Given the description of an element on the screen output the (x, y) to click on. 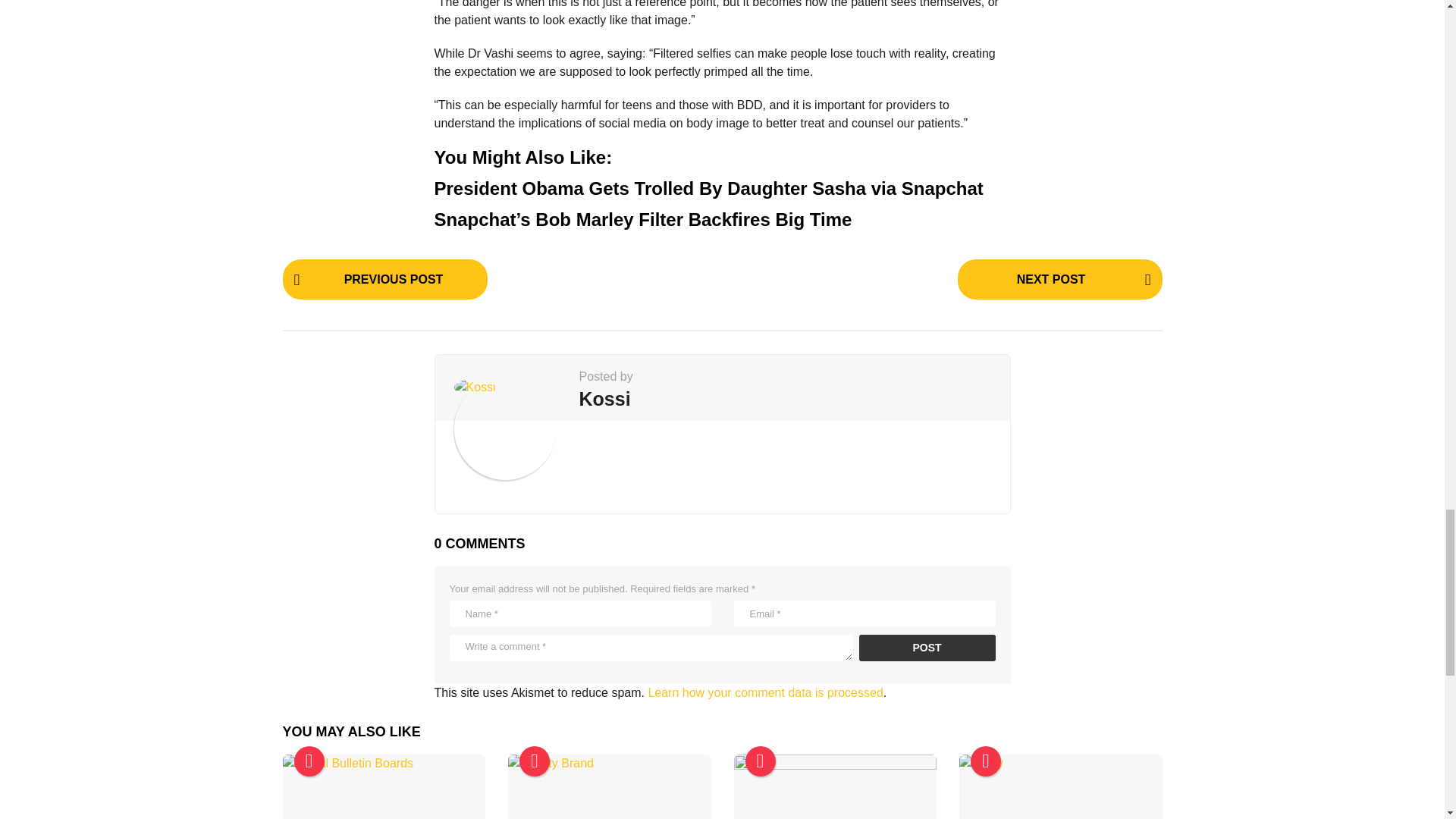
NEXT POST (1058, 279)
Effective Strategies for Growing Your Social Media Audience (835, 786)
Hot (759, 761)
Trending (309, 761)
President Obama Gets Trolled By Daughter Sasha via Snapchat (707, 188)
Hot (986, 761)
Post (926, 647)
Talefy: Welcome to the universe of interactive AI stories (1060, 786)
Hot (534, 761)
PREVIOUS POST (384, 279)
